Given the description of an element on the screen output the (x, y) to click on. 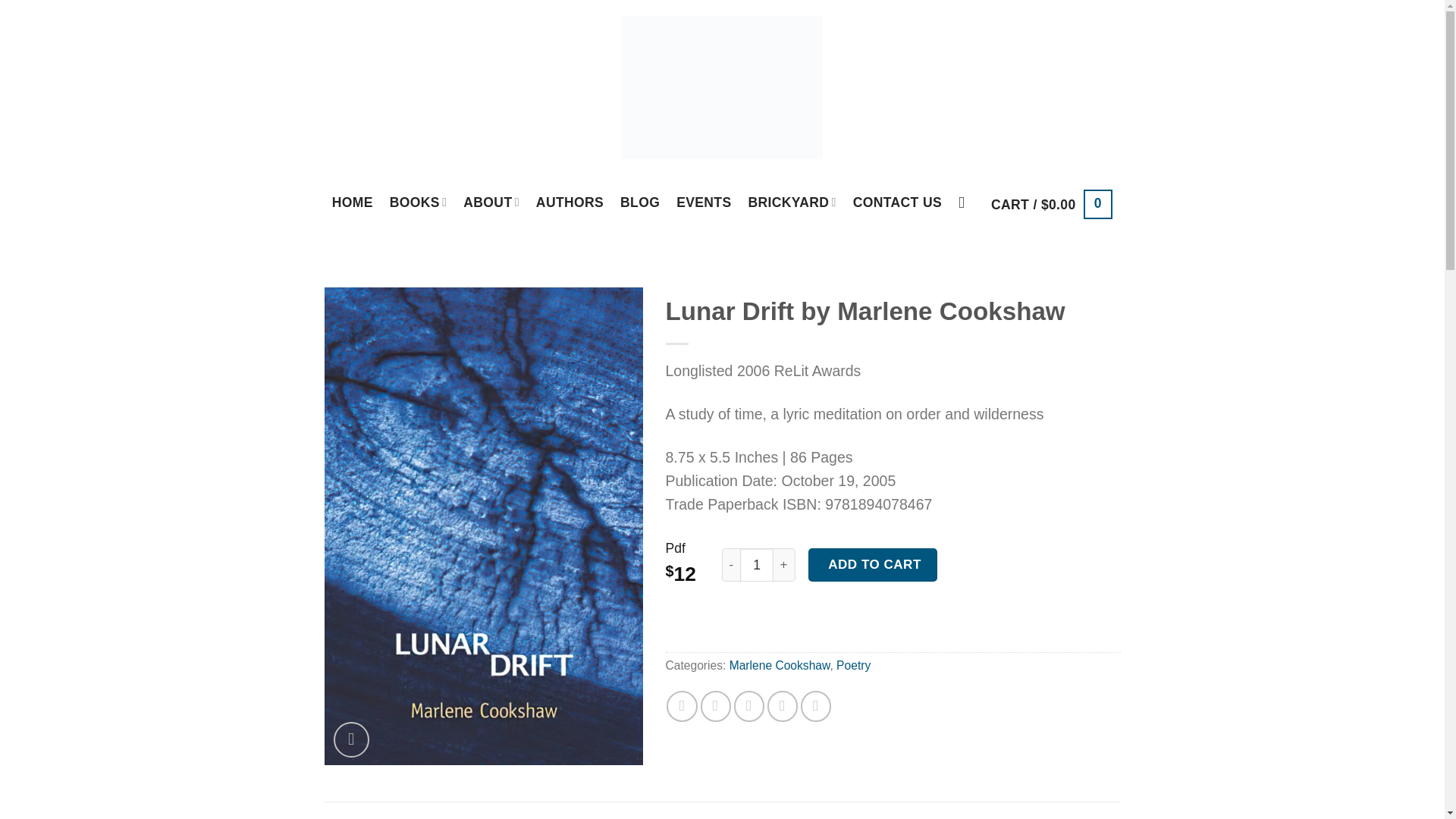
Share on LinkedIn (815, 706)
Share on Facebook (681, 706)
Pin on Pinterest (782, 706)
ABOUT (491, 202)
BOOKS (418, 202)
Cart (1051, 204)
Zoom (351, 739)
1 (756, 564)
HOME (351, 202)
Email to a Friend (748, 706)
Brick Books - Poetry's Home (722, 86)
Share on Twitter (715, 706)
